Given the description of an element on the screen output the (x, y) to click on. 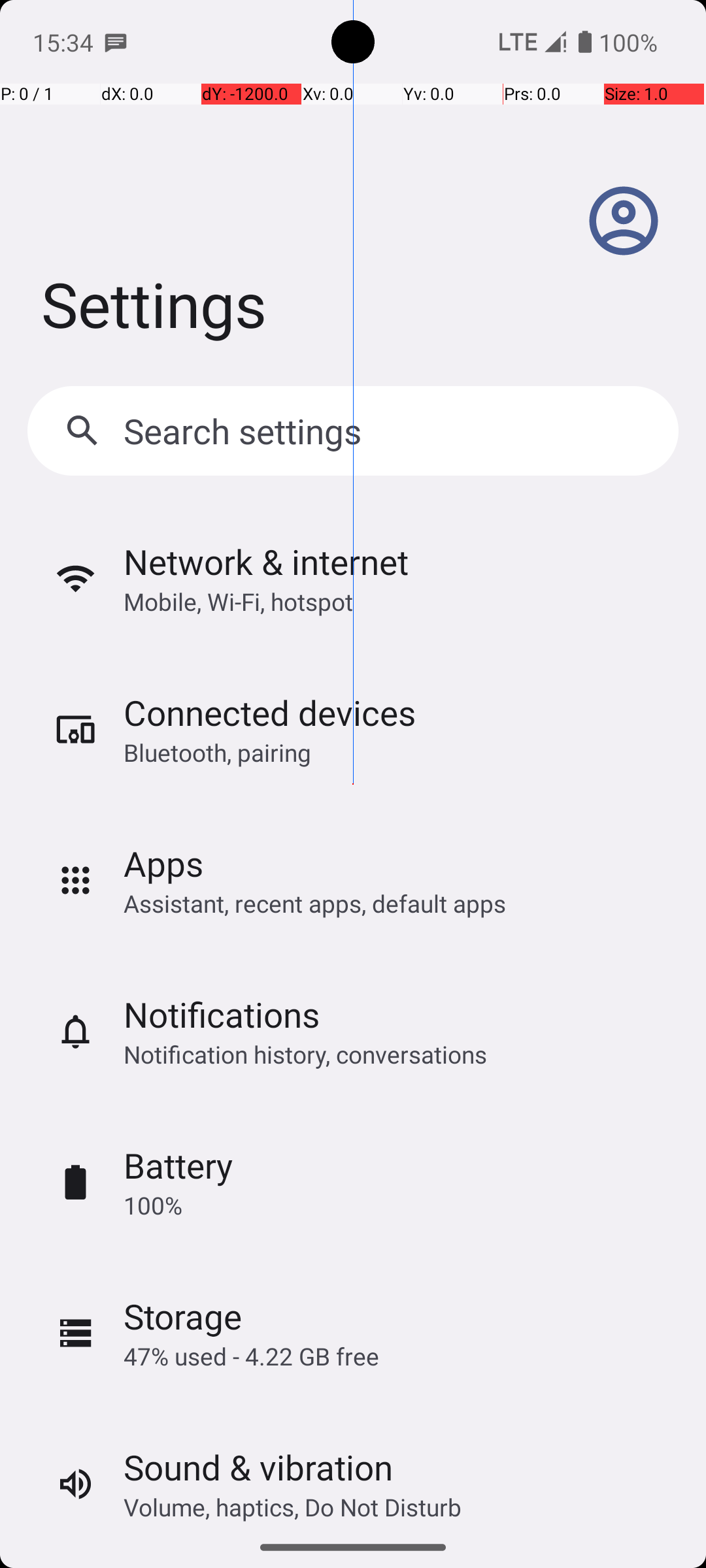
47% used - 4.22 GB free Element type: android.widget.TextView (251, 1355)
